Given the description of an element on the screen output the (x, y) to click on. 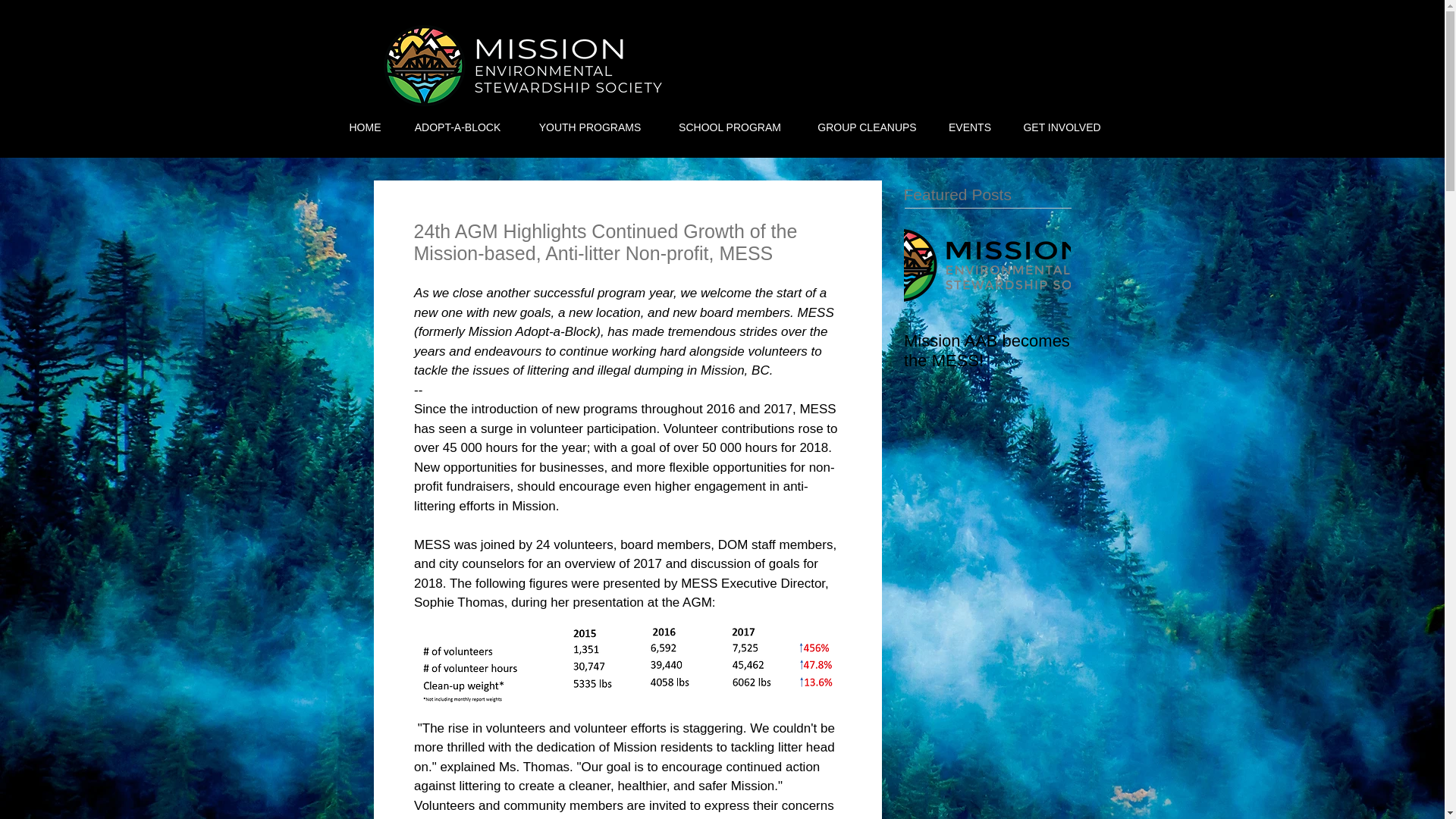
GET INVOLVED (1062, 127)
GROUP CLEANUPS (866, 127)
YOUTH PROGRAMS (589, 127)
EVENTS (970, 127)
ADOPT-A-BLOCK (456, 127)
HOME (364, 127)
Mission AAB becomes the MESS! (987, 351)
SCHOOL PROGRAM (729, 127)
